Given the description of an element on the screen output the (x, y) to click on. 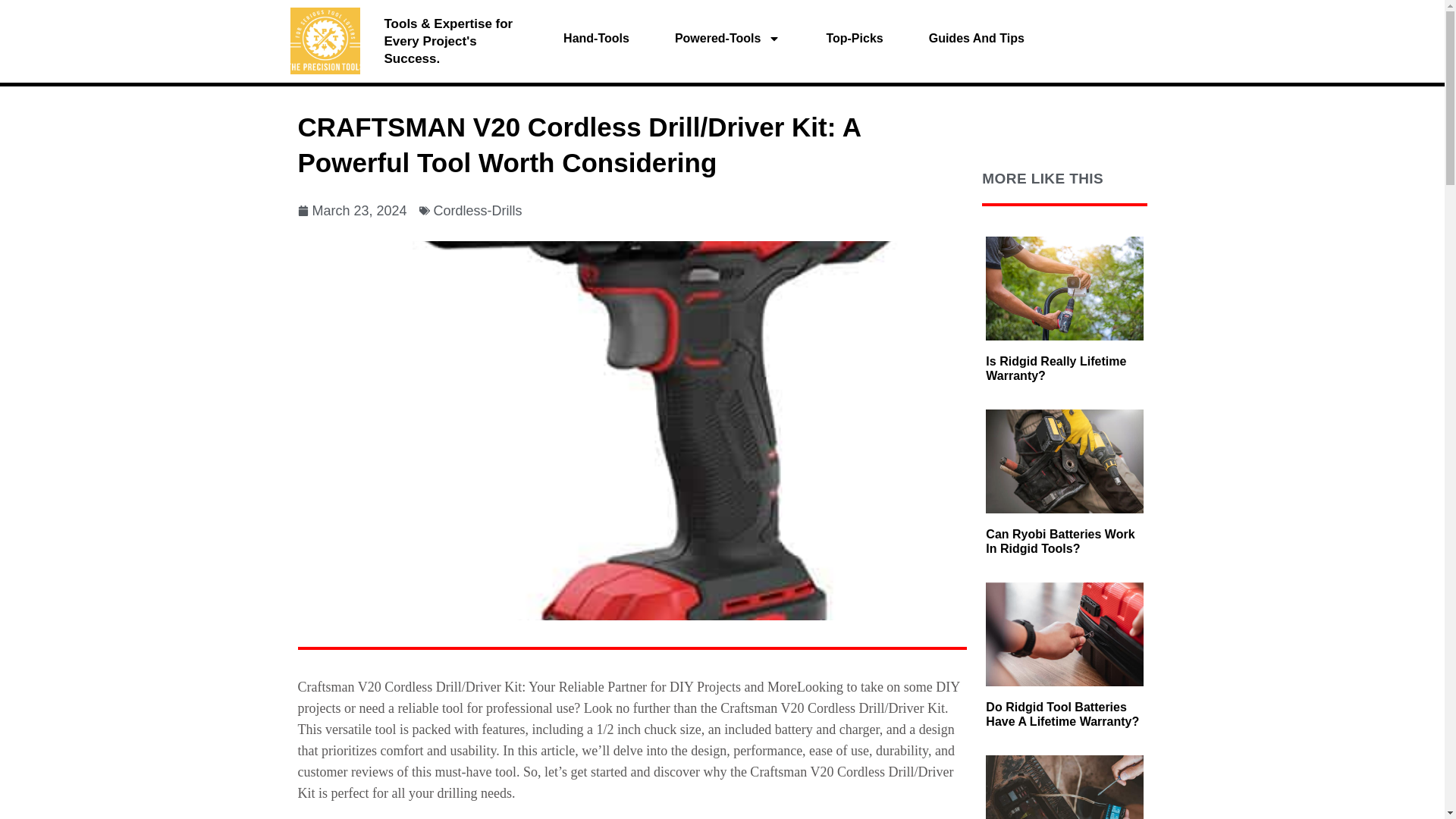
Guides And Tips (975, 38)
Do Ridgid Tool Batteries Have A Lifetime Warranty? (1061, 714)
Cordless-Drills (477, 210)
Powered-Tools (727, 38)
Can Ryobi Batteries Work In Ridgid Tools? (1059, 541)
Top-Picks (854, 38)
Is Ridgid Really Lifetime Warranty? (1055, 368)
Hand-Tools (596, 38)
